Given the description of an element on the screen output the (x, y) to click on. 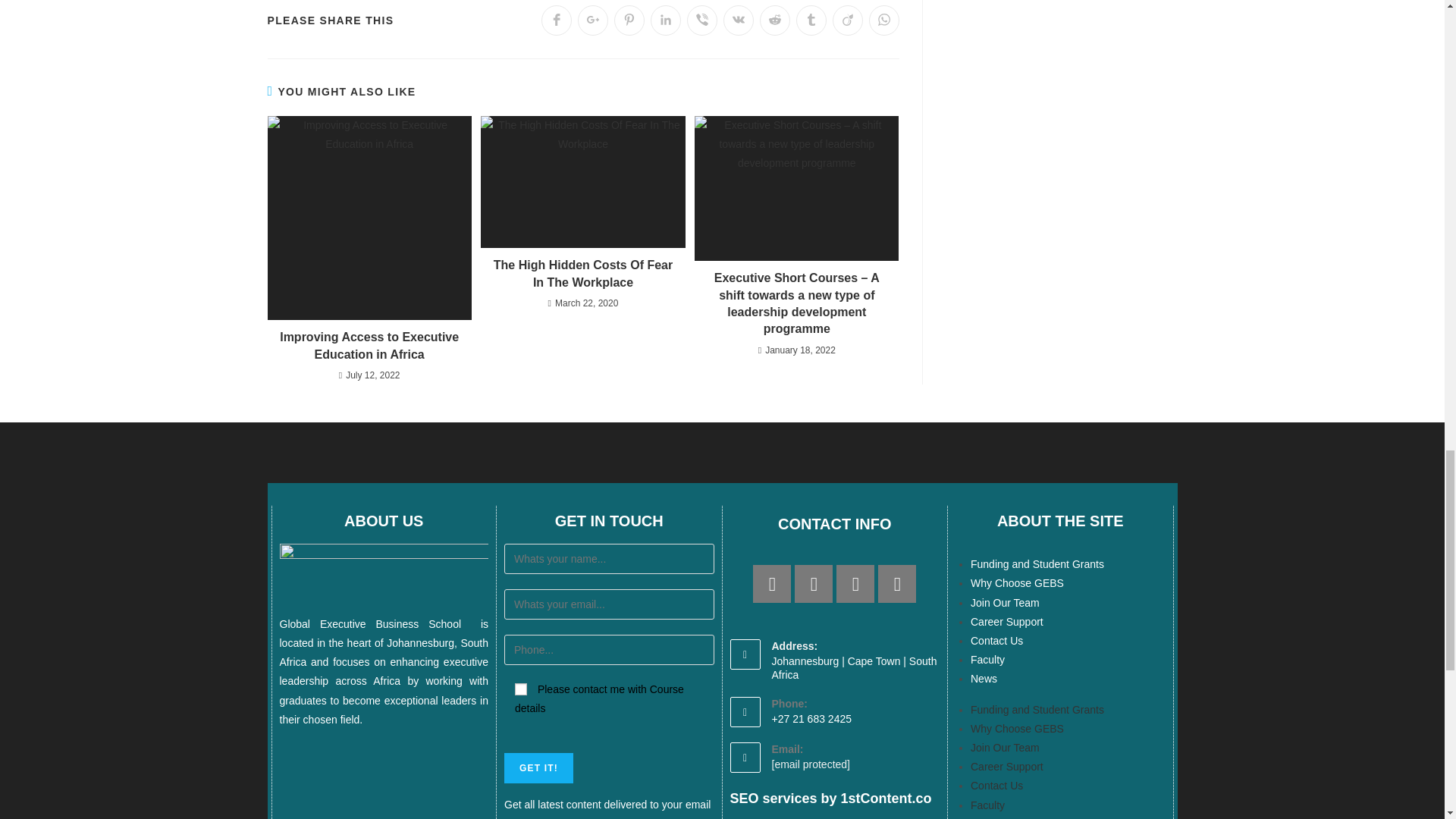
The High Hidden Costs Of Fear In The Workplace (582, 274)
Improving Access to Executive Education in Africa (368, 346)
Please contact me with Course details (521, 689)
